Given the description of an element on the screen output the (x, y) to click on. 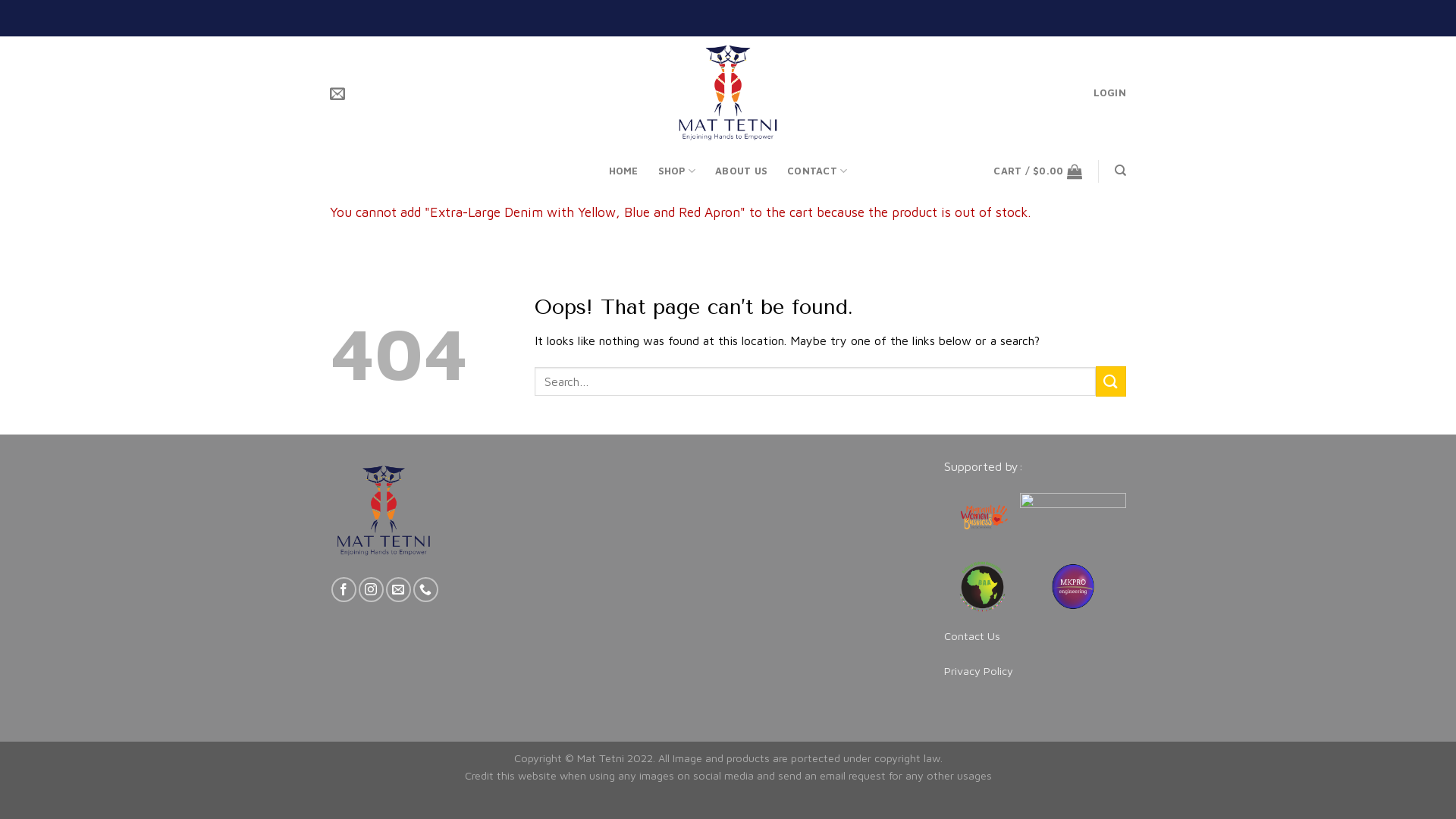
Sign up for Newsletter Element type: hover (337, 92)
HOME Element type: text (623, 171)
ABOUT US Element type: text (741, 171)
LOGIN Element type: text (1109, 93)
SHOP Element type: text (676, 170)
Call us Element type: hover (425, 589)
CART / $0.00 Element type: text (1037, 171)
Mat Tetni Element type: hover (727, 93)
CONTACT Element type: text (817, 170)
Follow on Instagram Element type: hover (370, 589)
Follow on Facebook Element type: hover (343, 589)
Send us an email Element type: hover (398, 589)
